Given the description of an element on the screen output the (x, y) to click on. 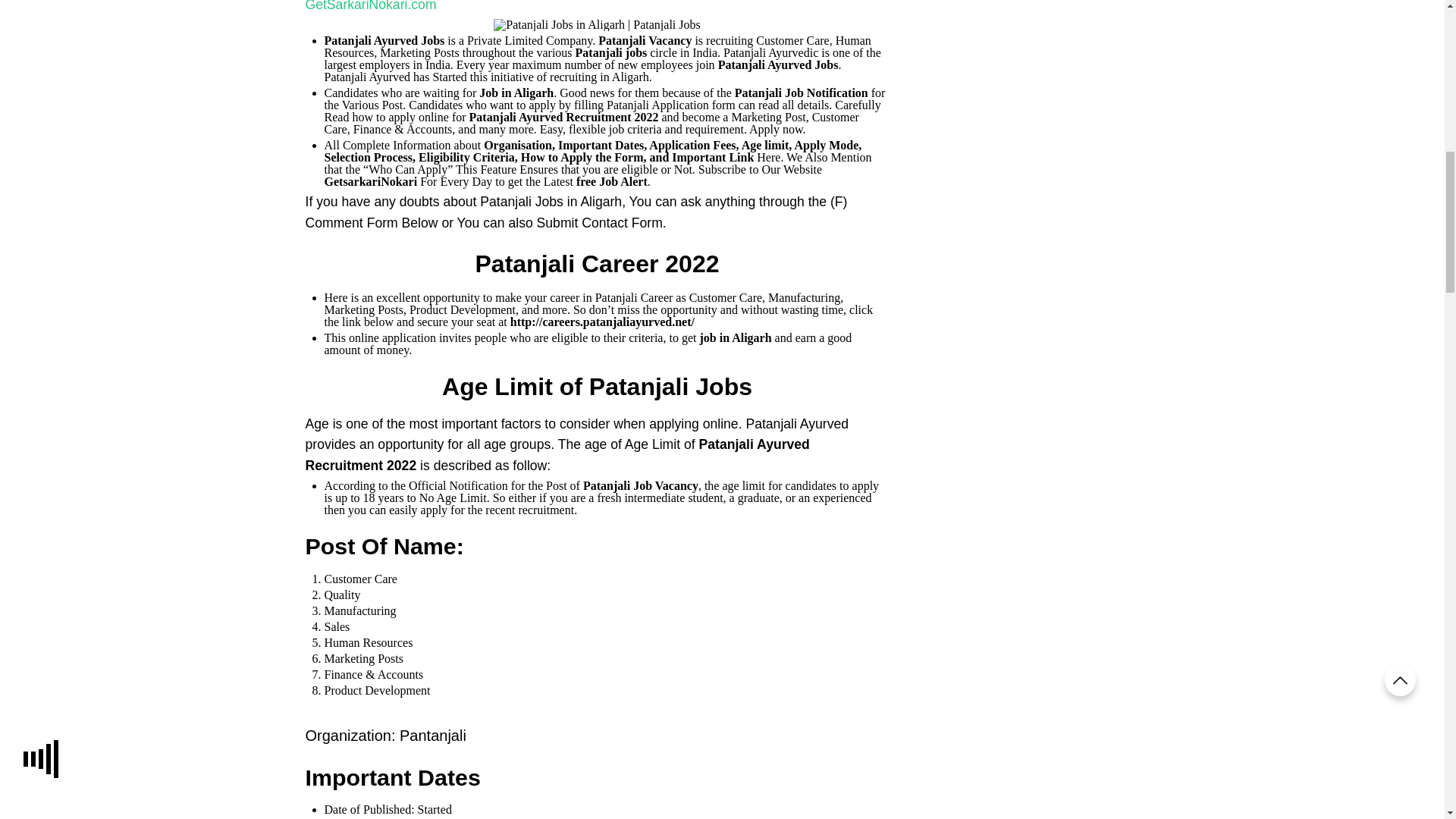
Patanjali Jobs in Aligarh 2022 Latest Bumper Vacancy 1 (596, 24)
GetSarkariNokari.com (369, 6)
